Given the description of an element on the screen output the (x, y) to click on. 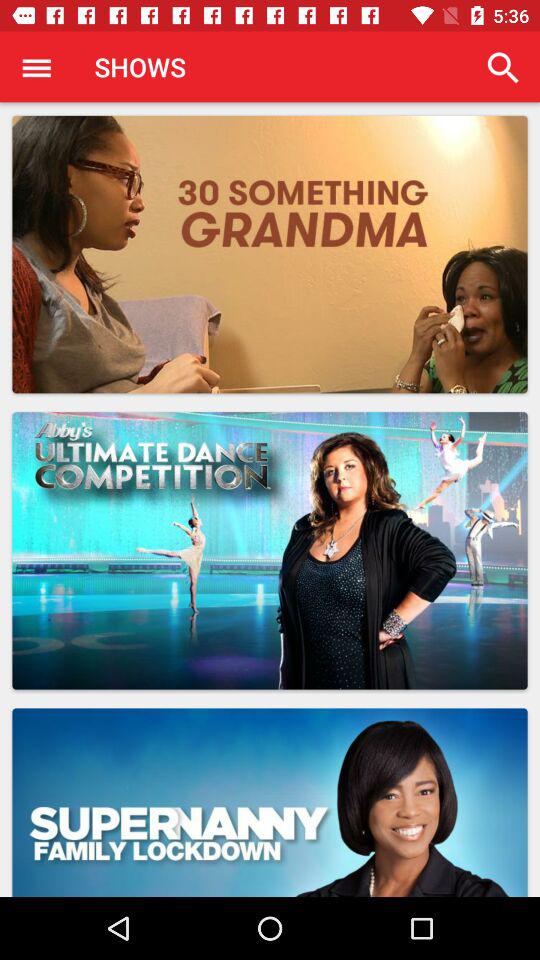
press item to the left of the shows icon (36, 67)
